Given the description of an element on the screen output the (x, y) to click on. 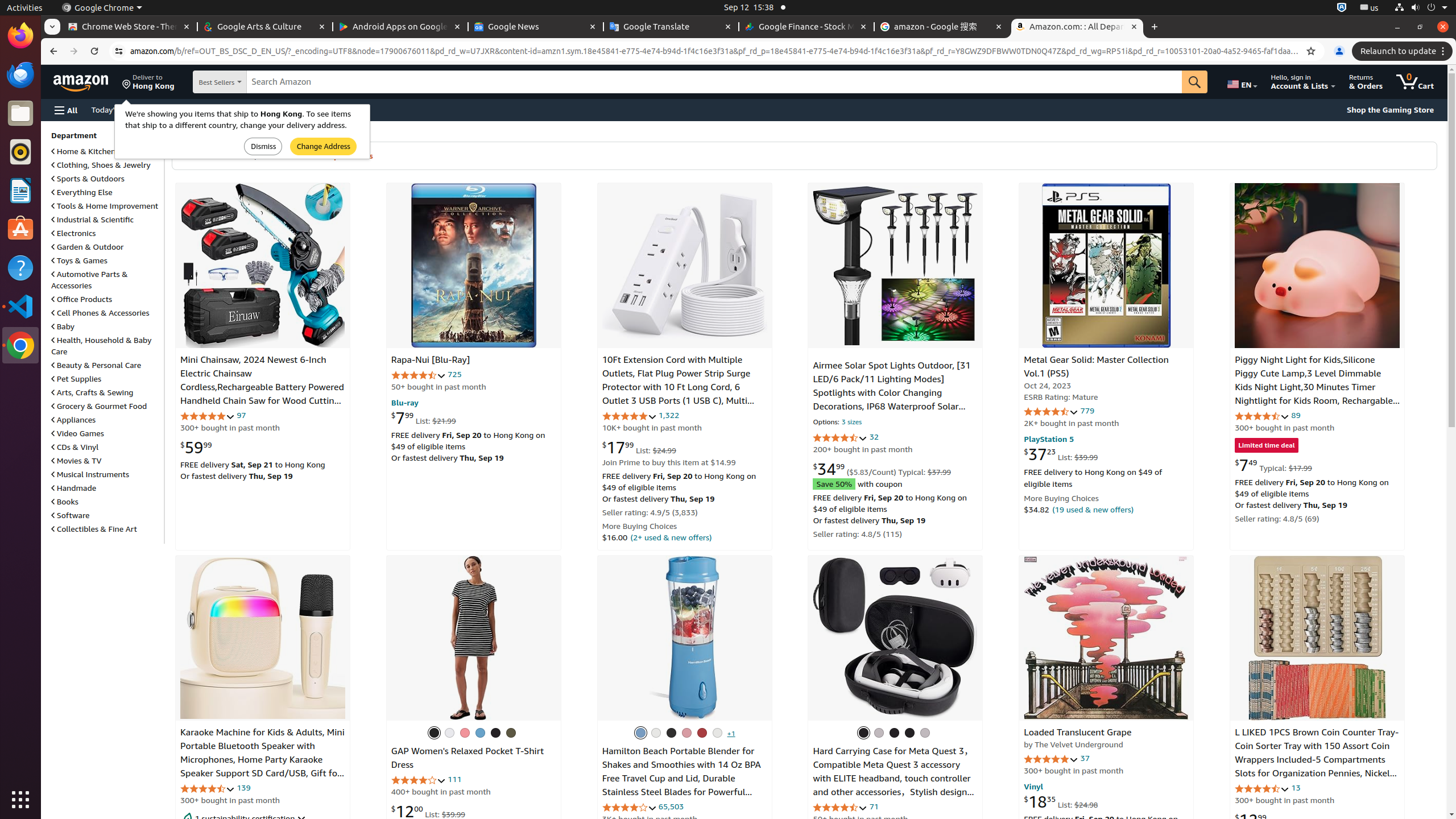
Pet Supplies Element type: link (76, 378)
Grocery & Gourmet Food Element type: link (99, 405)
Karaoke Machine for Kids & Adults, Mini Portable Bluetooth Speaker with Microphones, Home Party Karaoke Speaker Support SD Card/USB, Gift for Brithday, and Toys for Girls/Boys Element type: link (262, 759)
Best Sellers Element type: menu-item (227, 81)
4.5 out of 5 stars Element type: push-button (1261, 788)
